Given the description of an element on the screen output the (x, y) to click on. 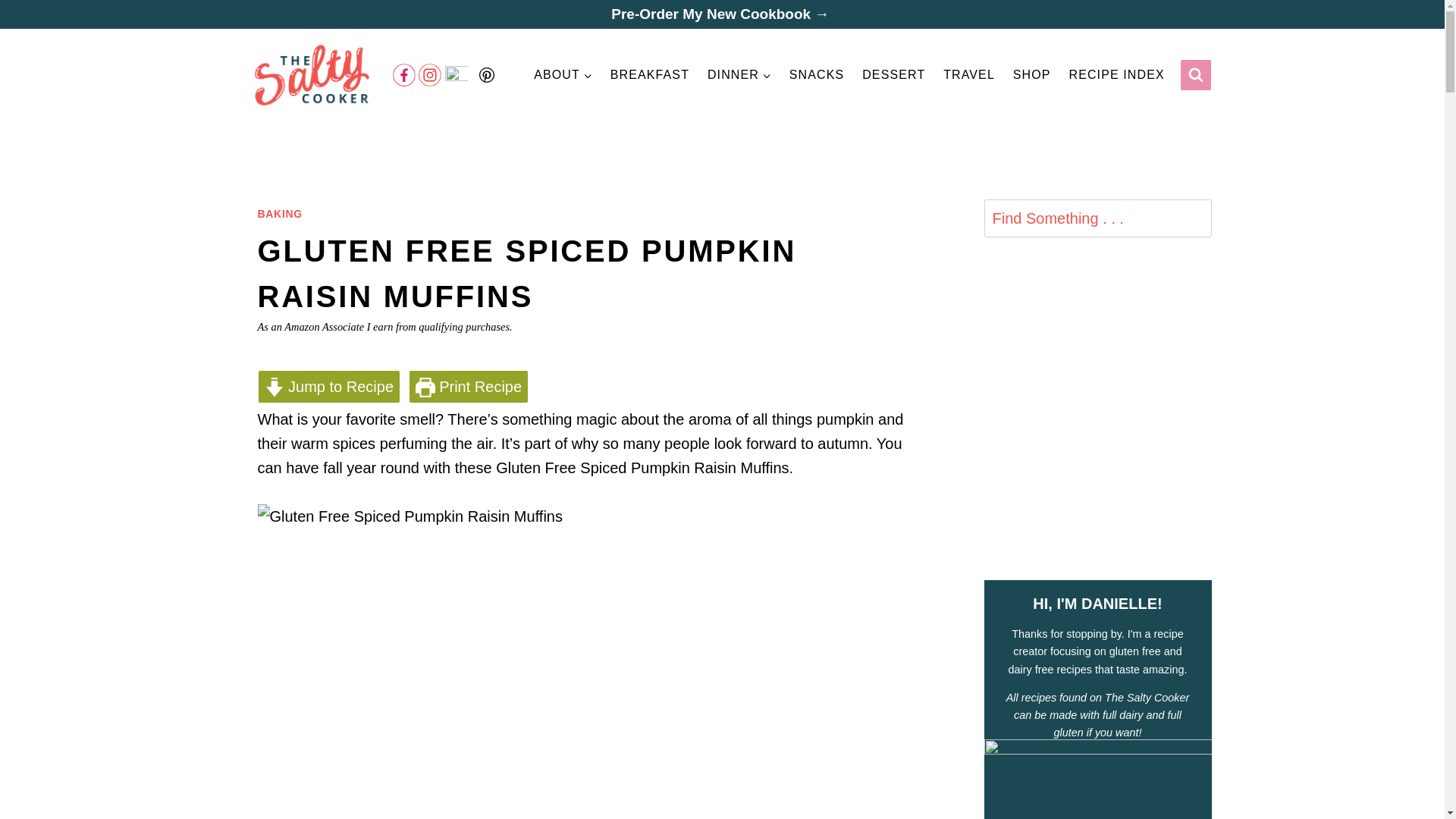
ABOUT (563, 74)
TRAVEL (969, 74)
DINNER (738, 74)
SNACKS (816, 74)
Print Recipe (469, 386)
RECIPE INDEX (1116, 74)
SHOP (1032, 74)
DESSERT (894, 74)
BAKING (279, 214)
Jump to Recipe (329, 386)
BREAKFAST (649, 74)
